Given the description of an element on the screen output the (x, y) to click on. 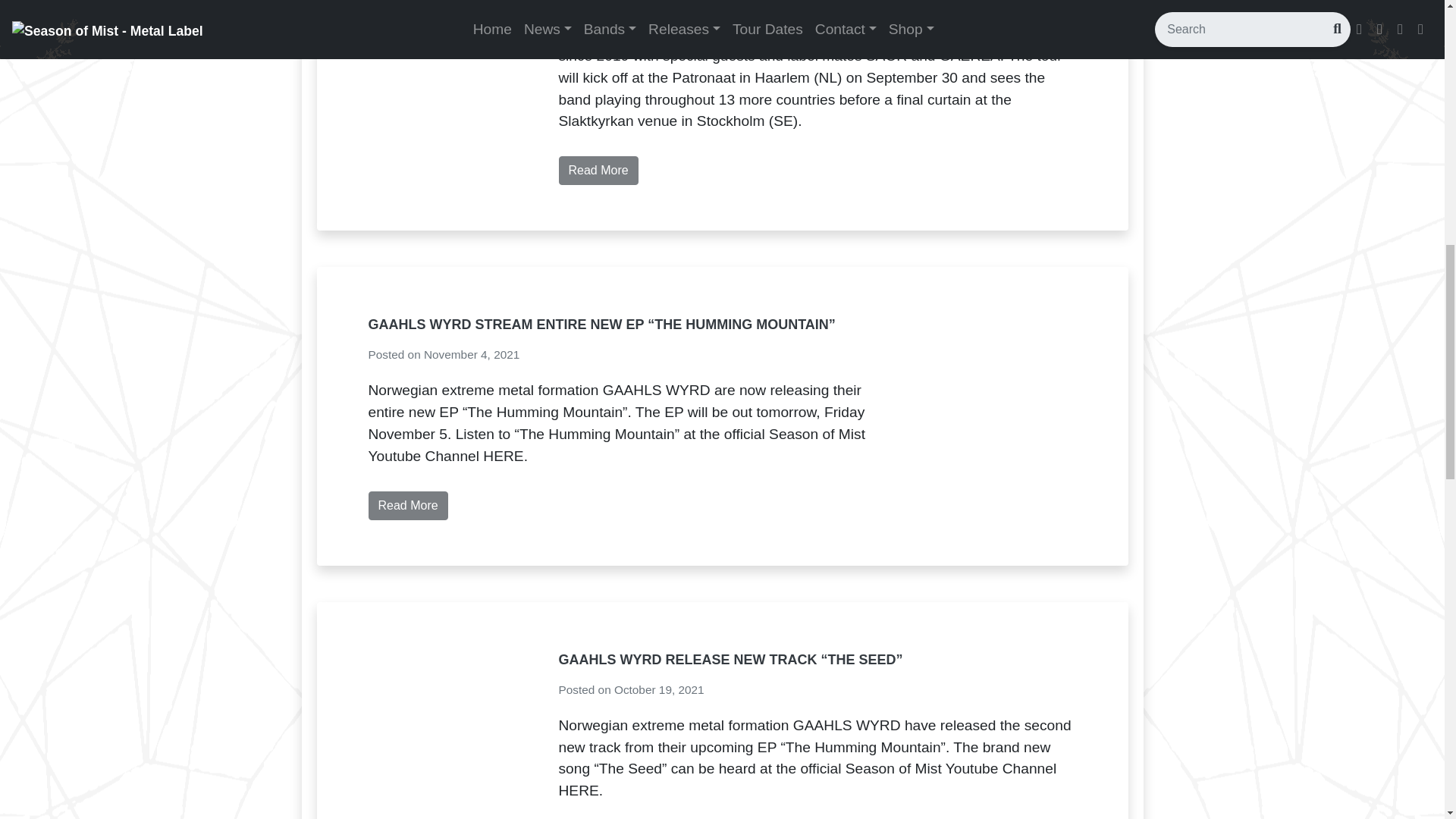
Read More (408, 505)
Read More (597, 170)
